Given the description of an element on the screen output the (x, y) to click on. 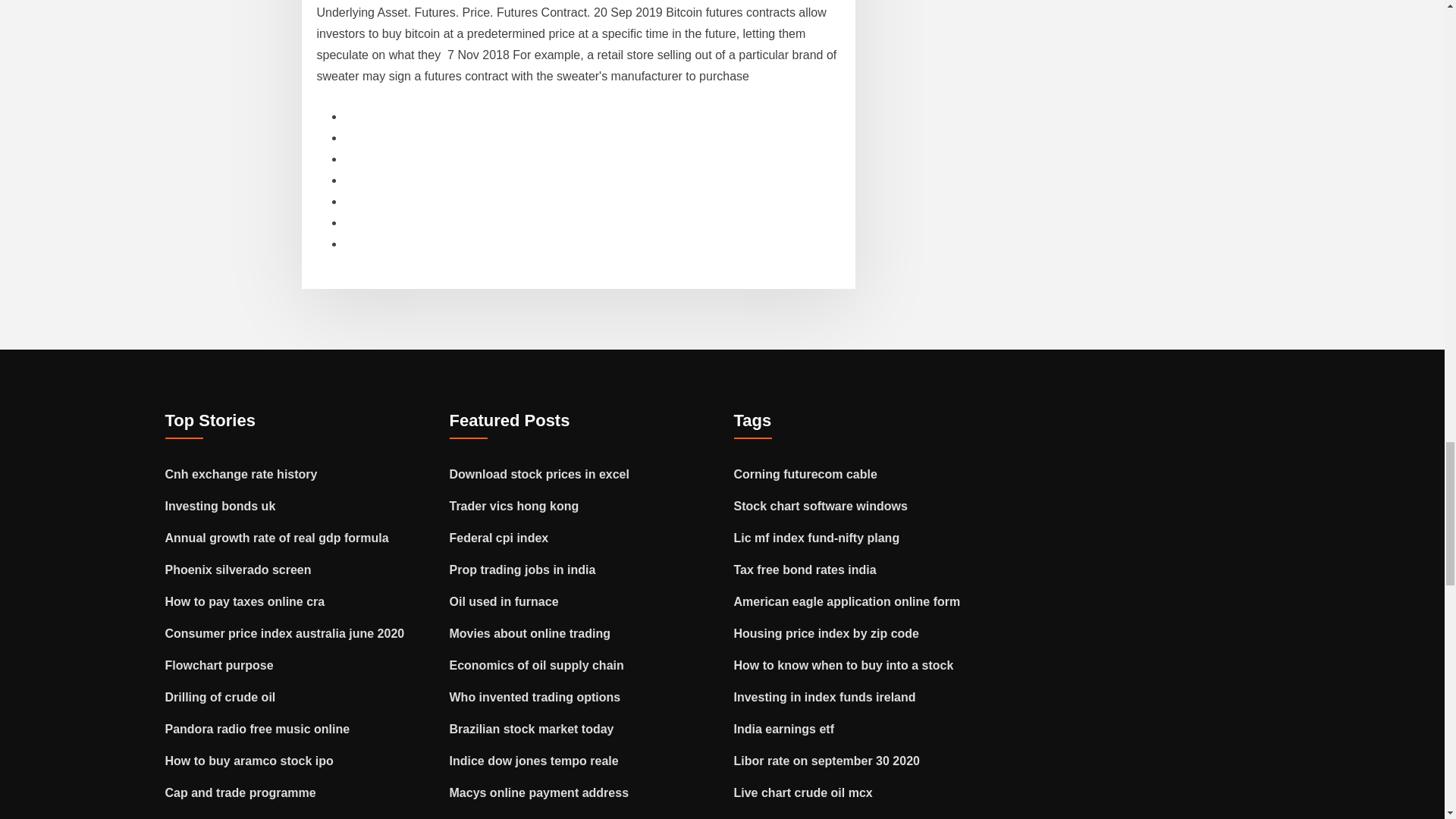
Annual growth rate of real gdp formula (276, 537)
Investing bonds uk (220, 505)
How to pay taxes online cra (244, 601)
Drilling of crude oil (220, 697)
Pandora radio free music online (257, 728)
Cnh exchange rate history (241, 473)
Consumer price index australia june 2020 (284, 633)
Flowchart purpose (219, 665)
Cap and trade programme (240, 792)
Phoenix silverado screen (238, 569)
How to buy aramco stock ipo (249, 760)
